Given the description of an element on the screen output the (x, y) to click on. 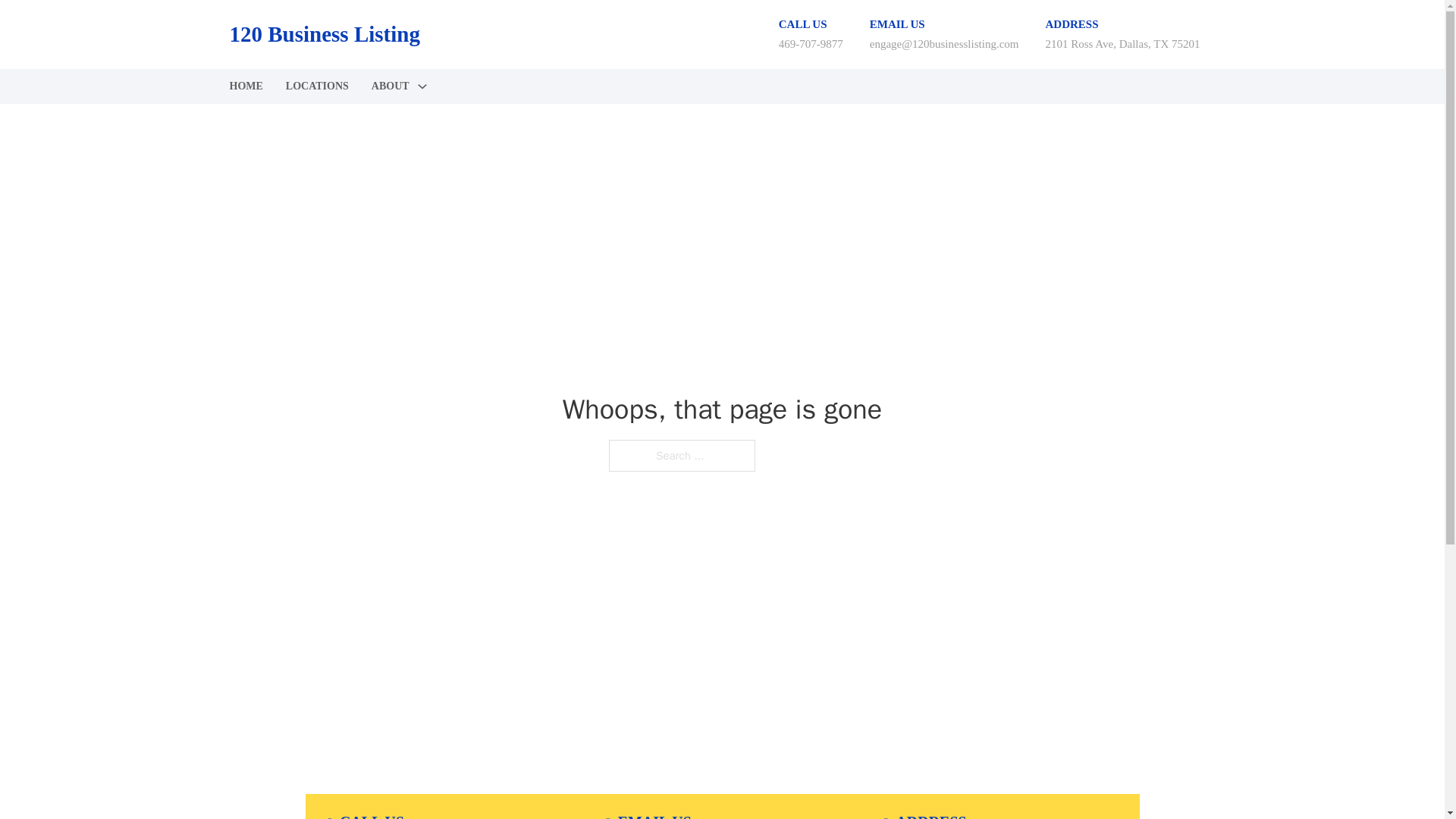
HOME (245, 85)
120 Business Listing (323, 34)
469-707-9877 (810, 43)
LOCATIONS (317, 85)
